Given the description of an element on the screen output the (x, y) to click on. 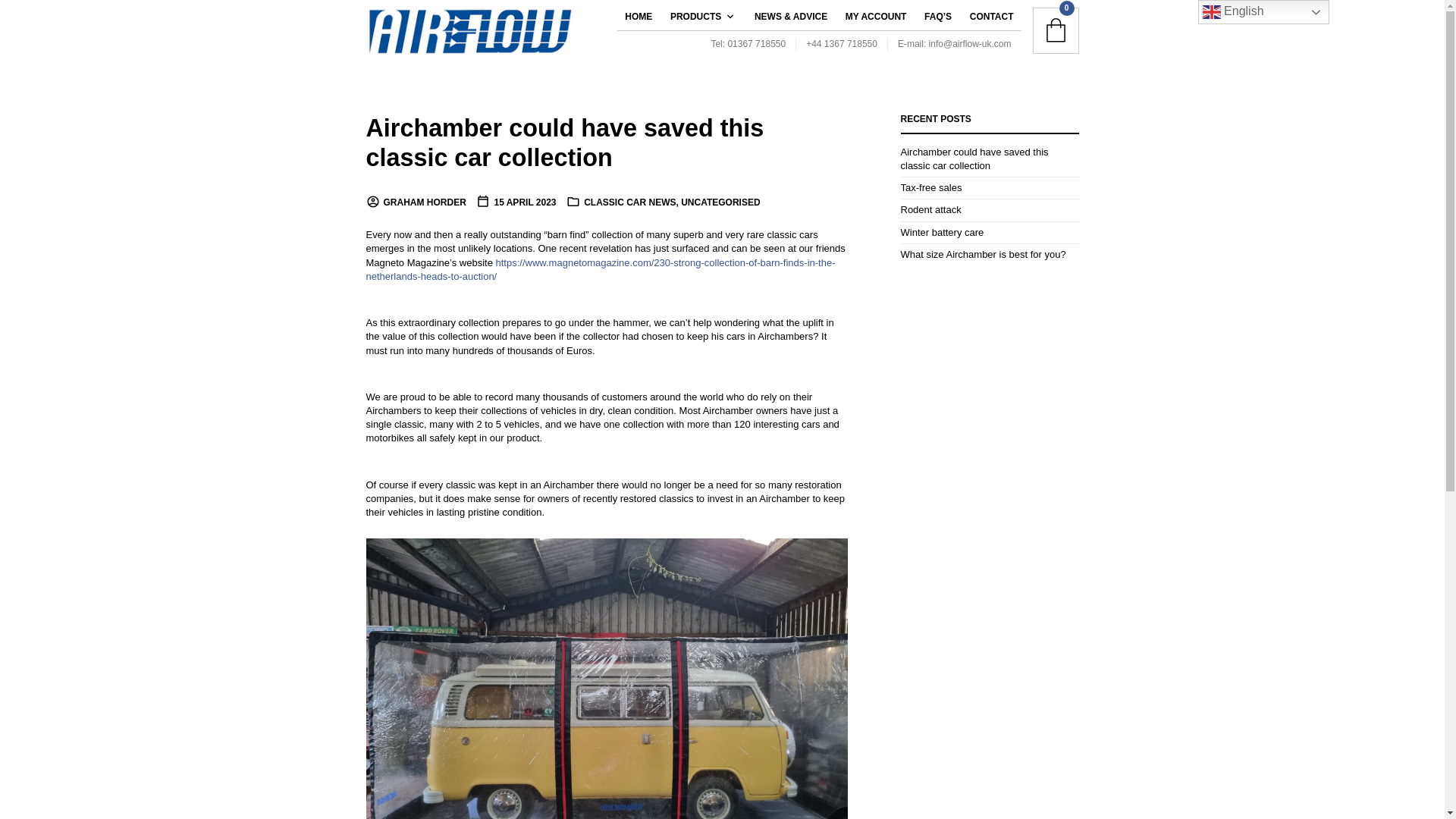
0 (1055, 30)
Rodent attack (930, 209)
15 APRIL 2023 (516, 202)
CONTACT (992, 17)
2:55 PM (516, 202)
View all posts by Graham Horder (415, 202)
CLASSIC CAR NEWS (629, 202)
UNCATEGORISED (720, 202)
PRODUCTS (699, 17)
